Given the description of an element on the screen output the (x, y) to click on. 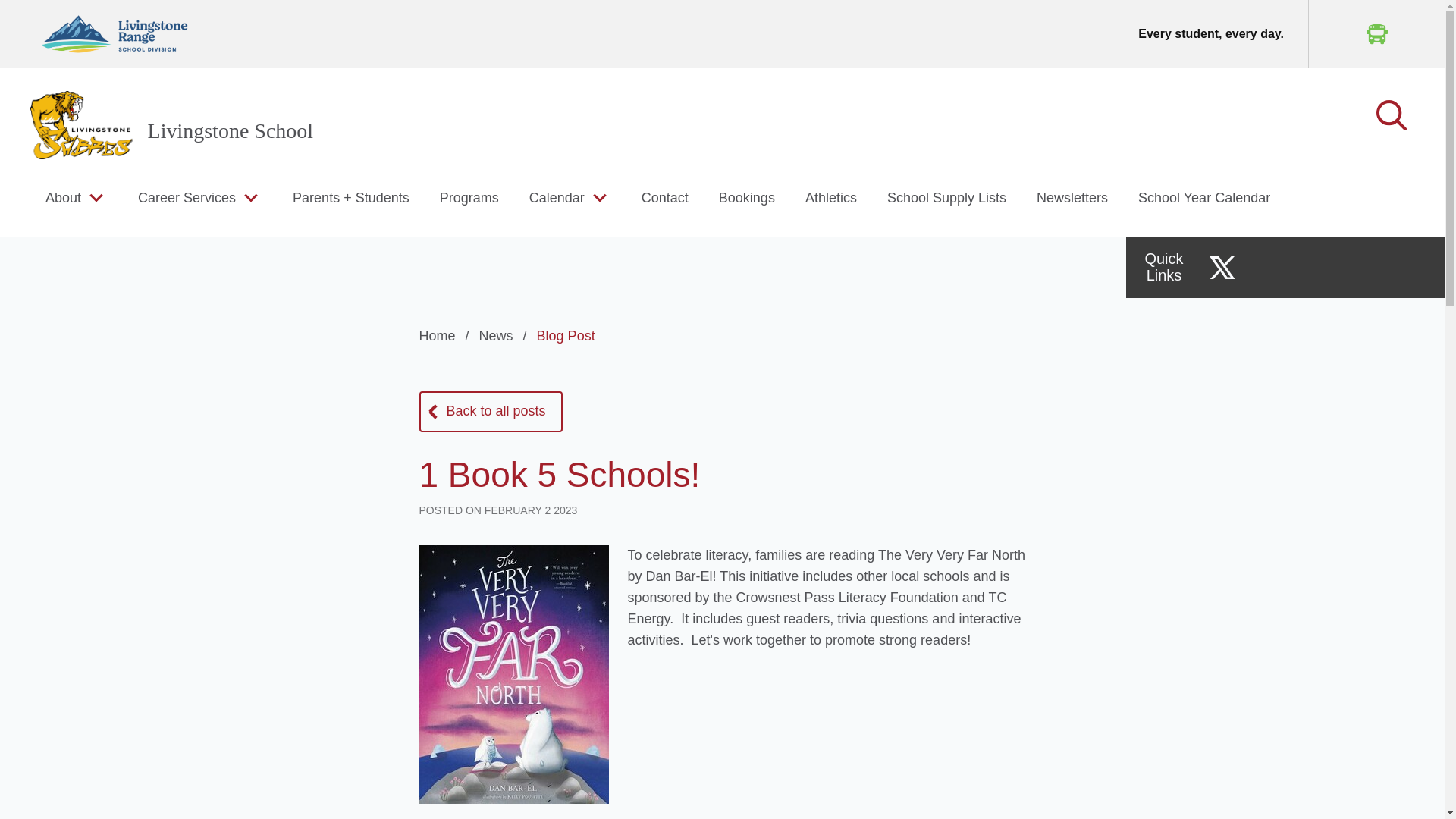
Athletics (831, 197)
Home (446, 335)
About (63, 197)
Contact (665, 197)
Livingstone School's X (1221, 267)
School Supply Lists (946, 197)
home (81, 124)
Calendar (557, 197)
Career Services (186, 197)
School Year Calendar (1203, 197)
Quick Links (1163, 267)
Back to Blog (490, 411)
News (505, 335)
Newsletters (1072, 197)
Programs (469, 197)
